Given the description of an element on the screen output the (x, y) to click on. 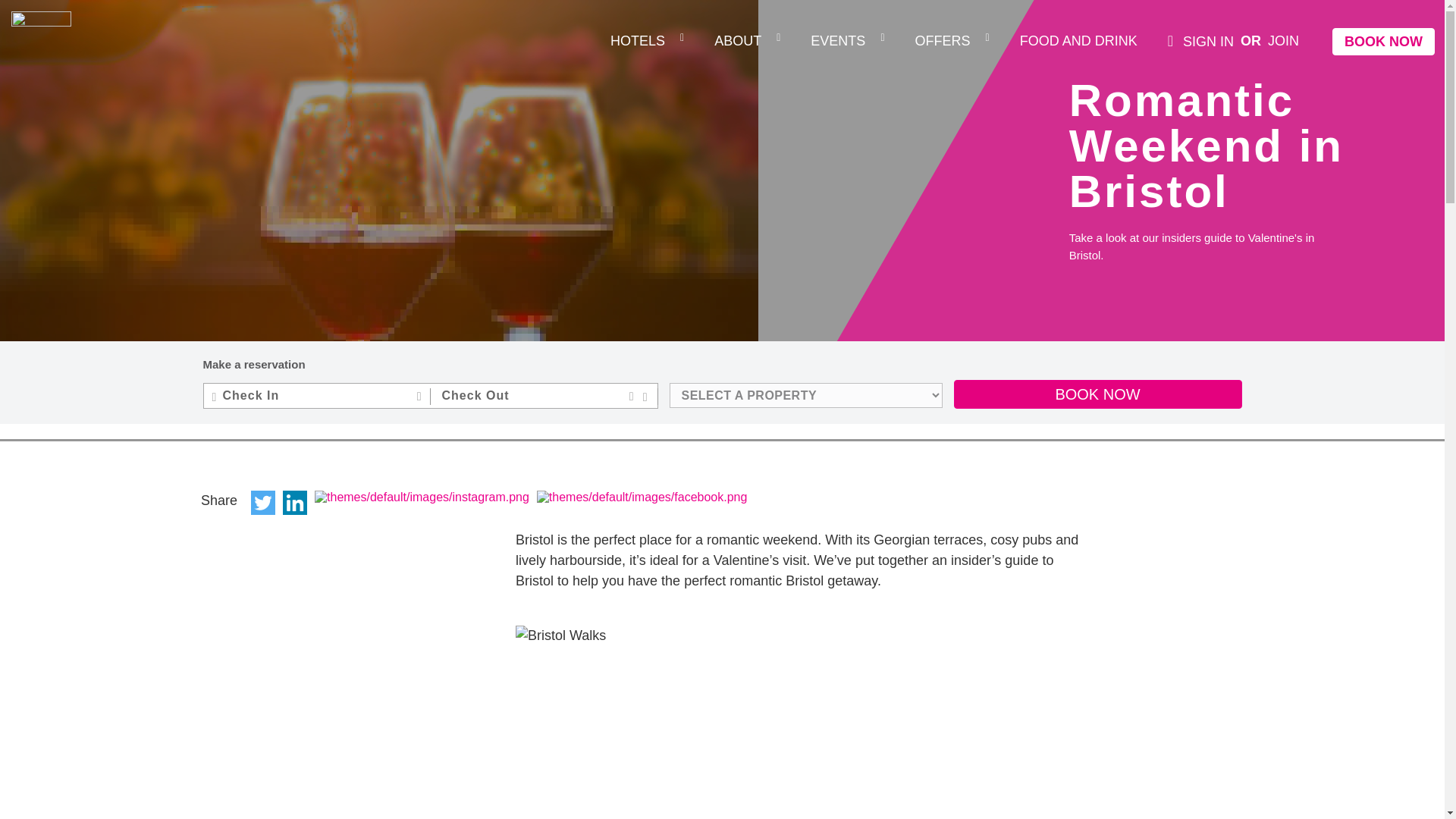
Offers (941, 41)
twitter (262, 501)
Hotels (637, 41)
Book Now (1383, 40)
Events (837, 41)
FOOD AND DRINK (1078, 41)
OFFERS (941, 41)
facebook (642, 496)
About (737, 41)
EVENTS (837, 41)
SIGN IN (1200, 41)
Food and Drink (1078, 41)
BOOK NOW (1383, 40)
HOTELS (637, 41)
Join (1283, 41)
